Given the description of an element on the screen output the (x, y) to click on. 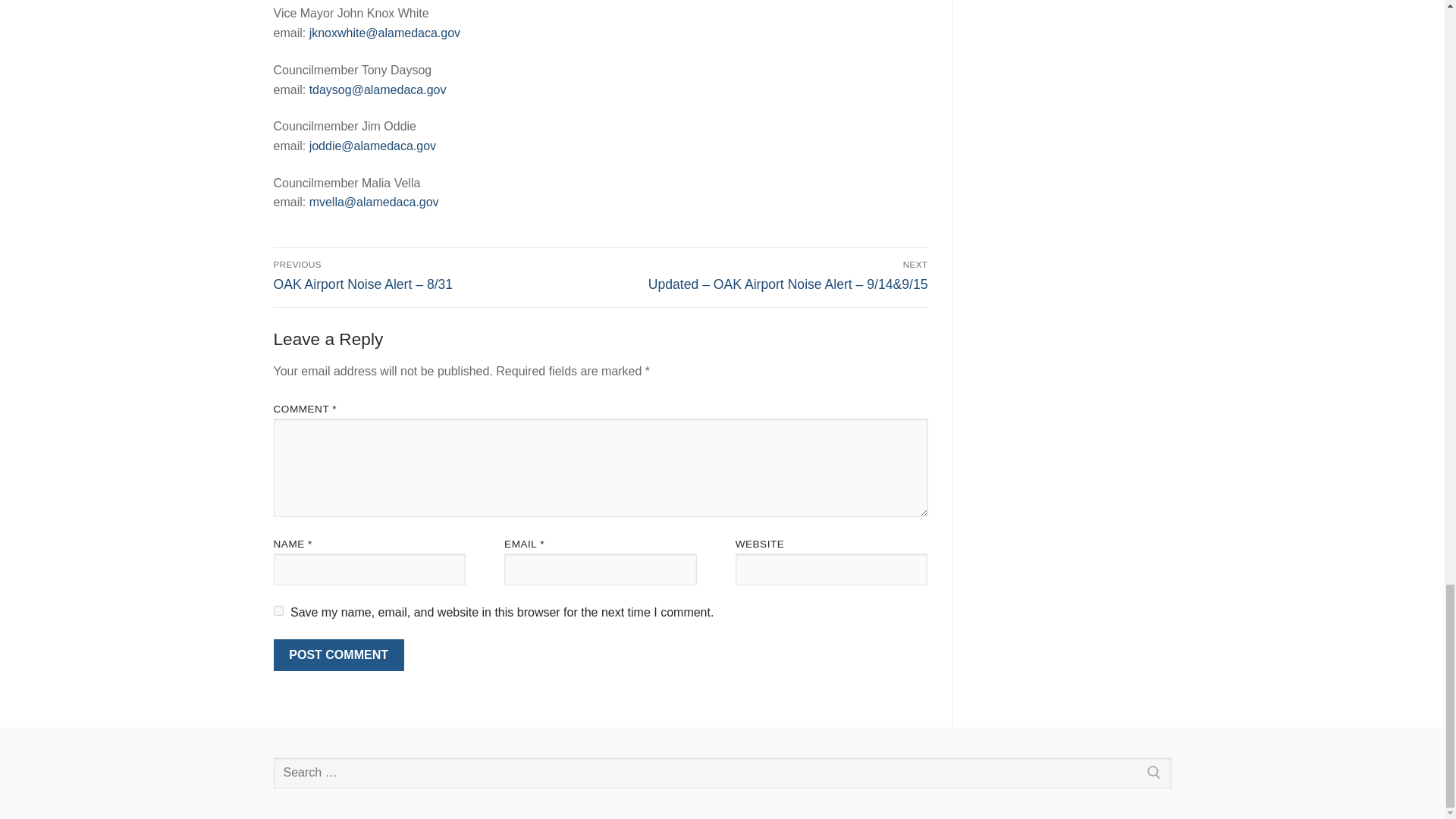
Search for: (721, 773)
yes (277, 610)
Post Comment (338, 654)
Post Comment (338, 654)
